Given the description of an element on the screen output the (x, y) to click on. 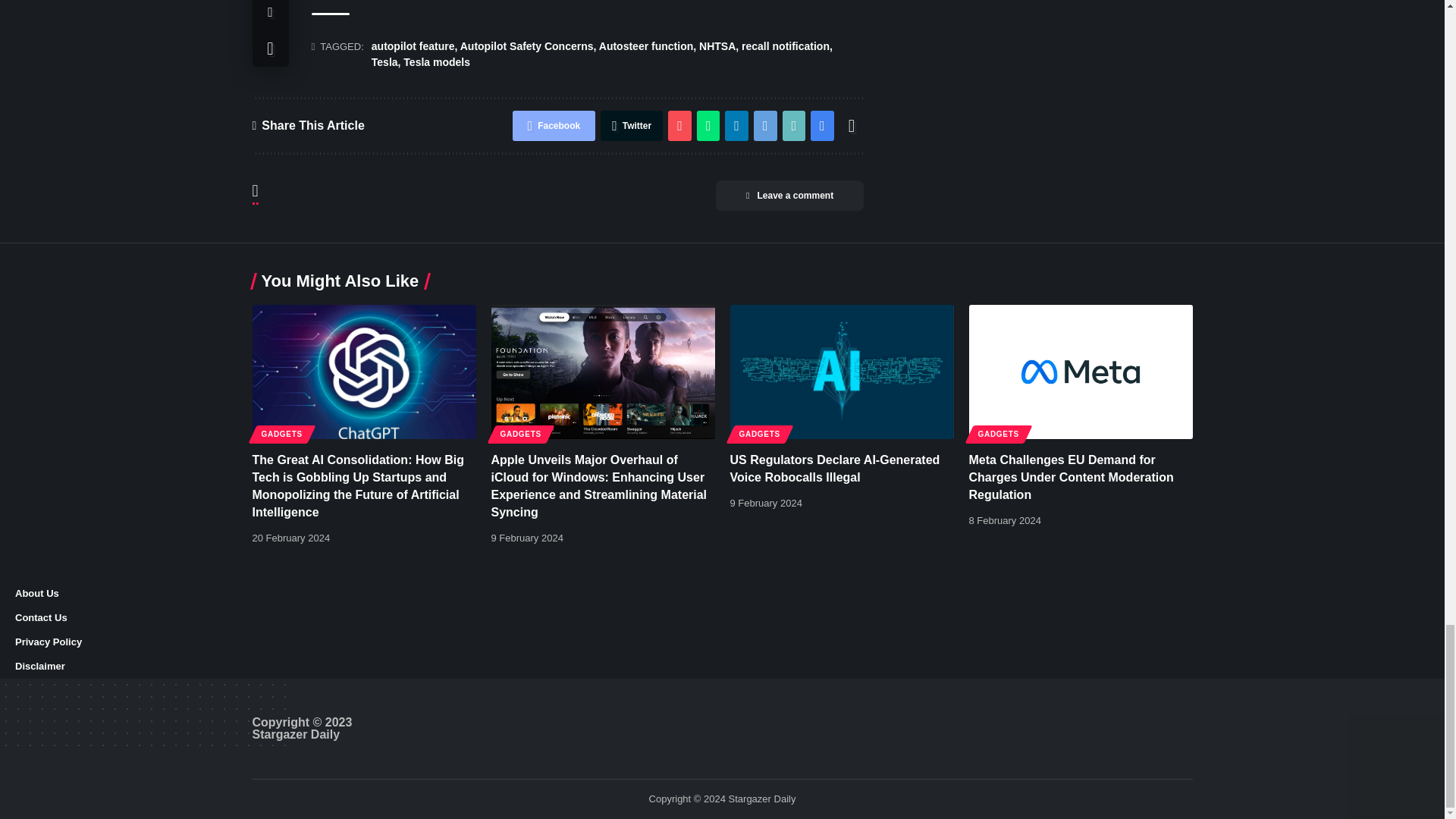
US Regulators Declare AI-Generated Voice Robocalls Illegal (841, 371)
